Given the description of an element on the screen output the (x, y) to click on. 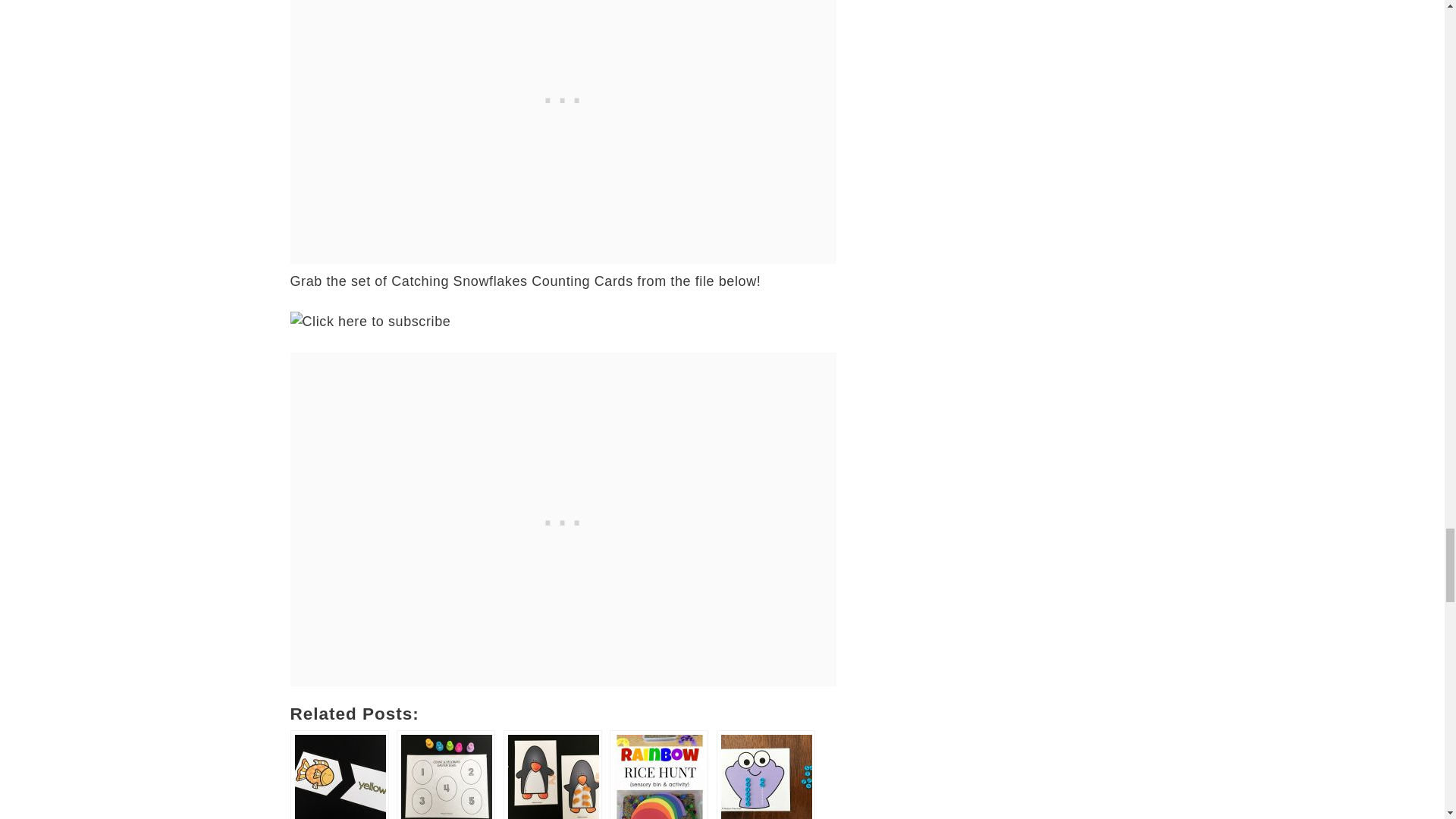
Feed the Penguin Counting Mats (552, 774)
Color Matching Fish Puzzles (338, 774)
Seashell Pre-Writing Number Tracing Cards (765, 774)
Easter Egg Counting Printable Activity (445, 774)
ACTIVITY:  Rainbow Rice Hunt! (658, 774)
Easter Egg Counting Printable Activity (445, 774)
Feed the Penguin Counting Mats (552, 774)
ACTIVITY: Rainbow Rice Hunt! (658, 774)
Color Matching Fish Puzzles (338, 774)
Seashell Pre-Writing Number Tracing Cards (765, 774)
